Given the description of an element on the screen output the (x, y) to click on. 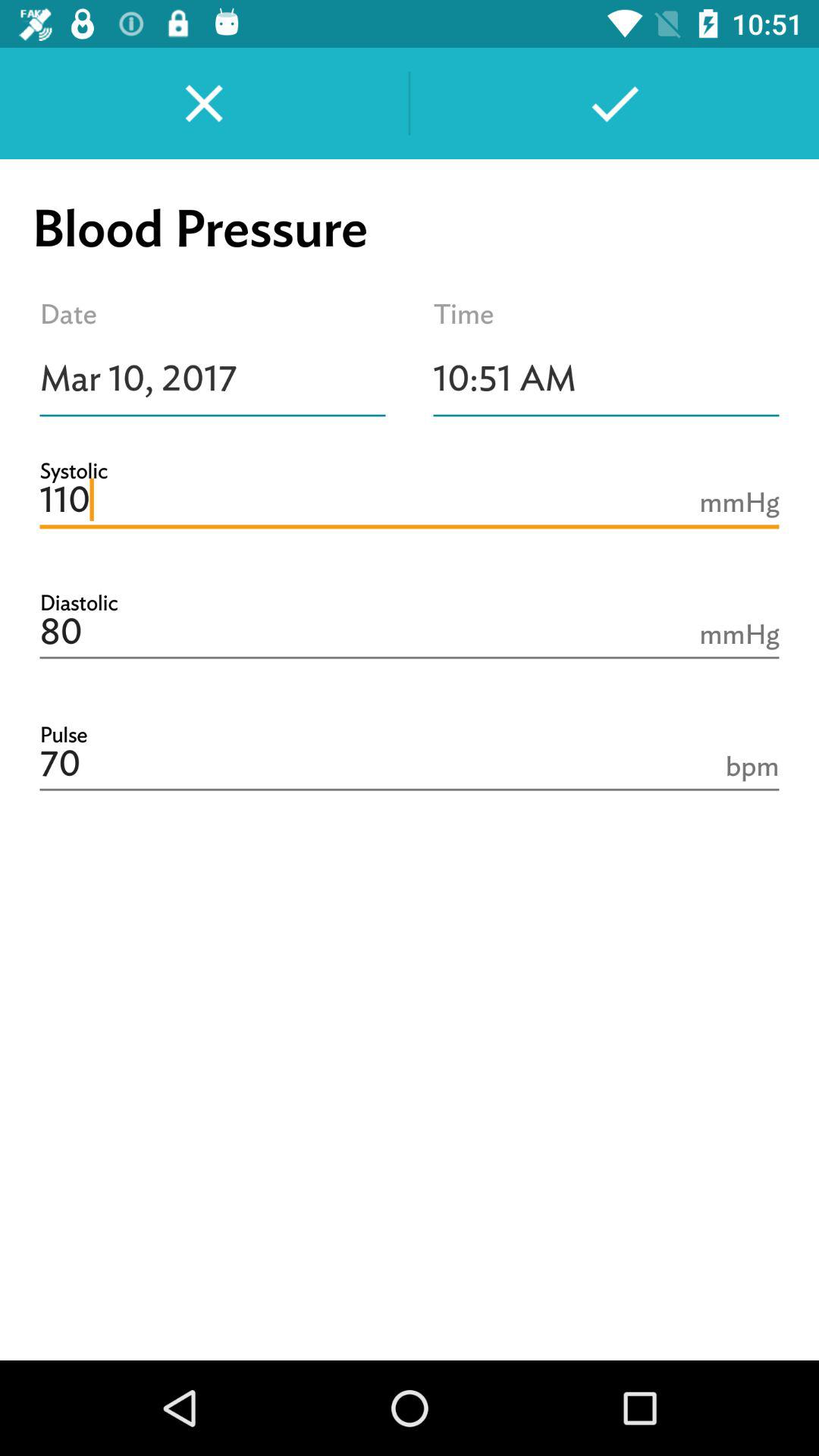
press the item next to the 10:51 am item (212, 378)
